Given the description of an element on the screen output the (x, y) to click on. 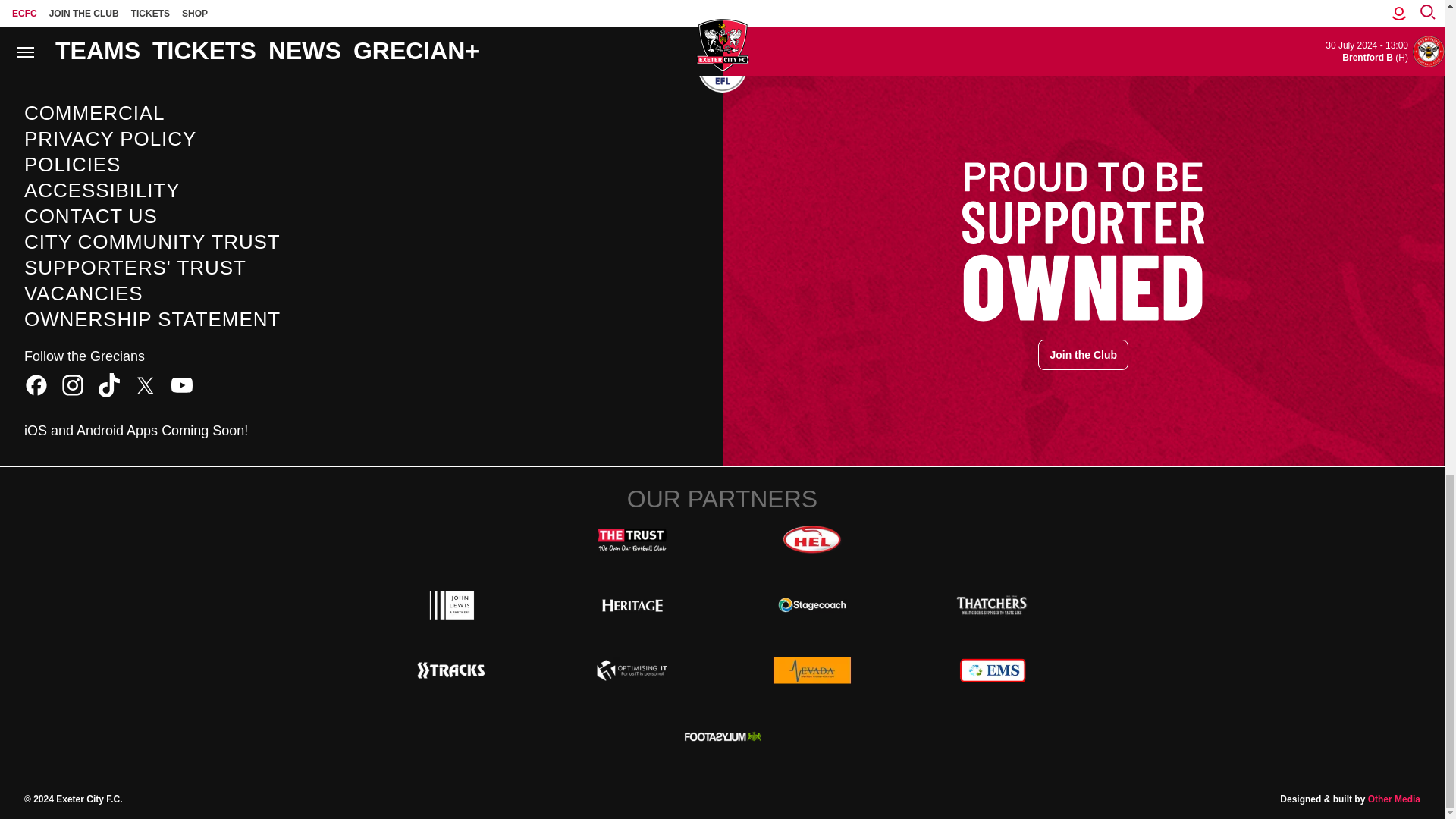
Facebook (36, 385)
Nevada Construction  (812, 669)
Thatchers (991, 604)
Optimising IT (632, 669)
X Formally know as Twitter (145, 385)
Tracks Suzuki (451, 669)
Heritage Developments (632, 604)
Stagecoach (812, 604)
EMS (991, 669)
John Lewis (451, 604)
Instagram (72, 385)
The Trust (632, 539)
HEL (812, 539)
TikTok icon (108, 385)
Footasylum (721, 735)
